Given the description of an element on the screen output the (x, y) to click on. 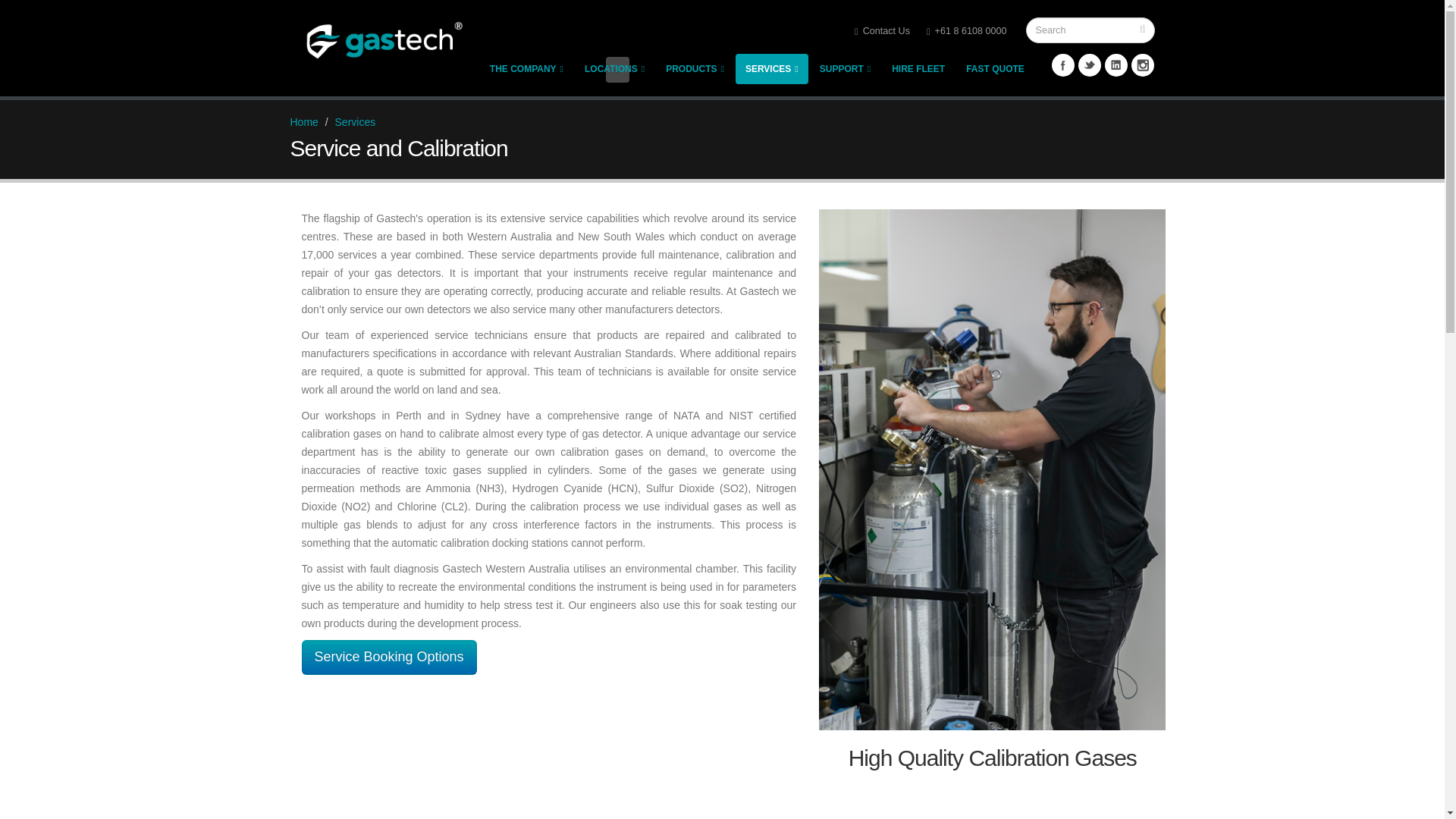
PRODUCTS (694, 69)
Contact Us (882, 31)
Twitter (1089, 65)
Enter the terms you wish to search for. (1089, 30)
LOCATIONS (614, 69)
Twitter (1089, 65)
Facebook (1062, 65)
Products (694, 69)
Linkedin (1115, 65)
THE COMPANY (526, 69)
